Given the description of an element on the screen output the (x, y) to click on. 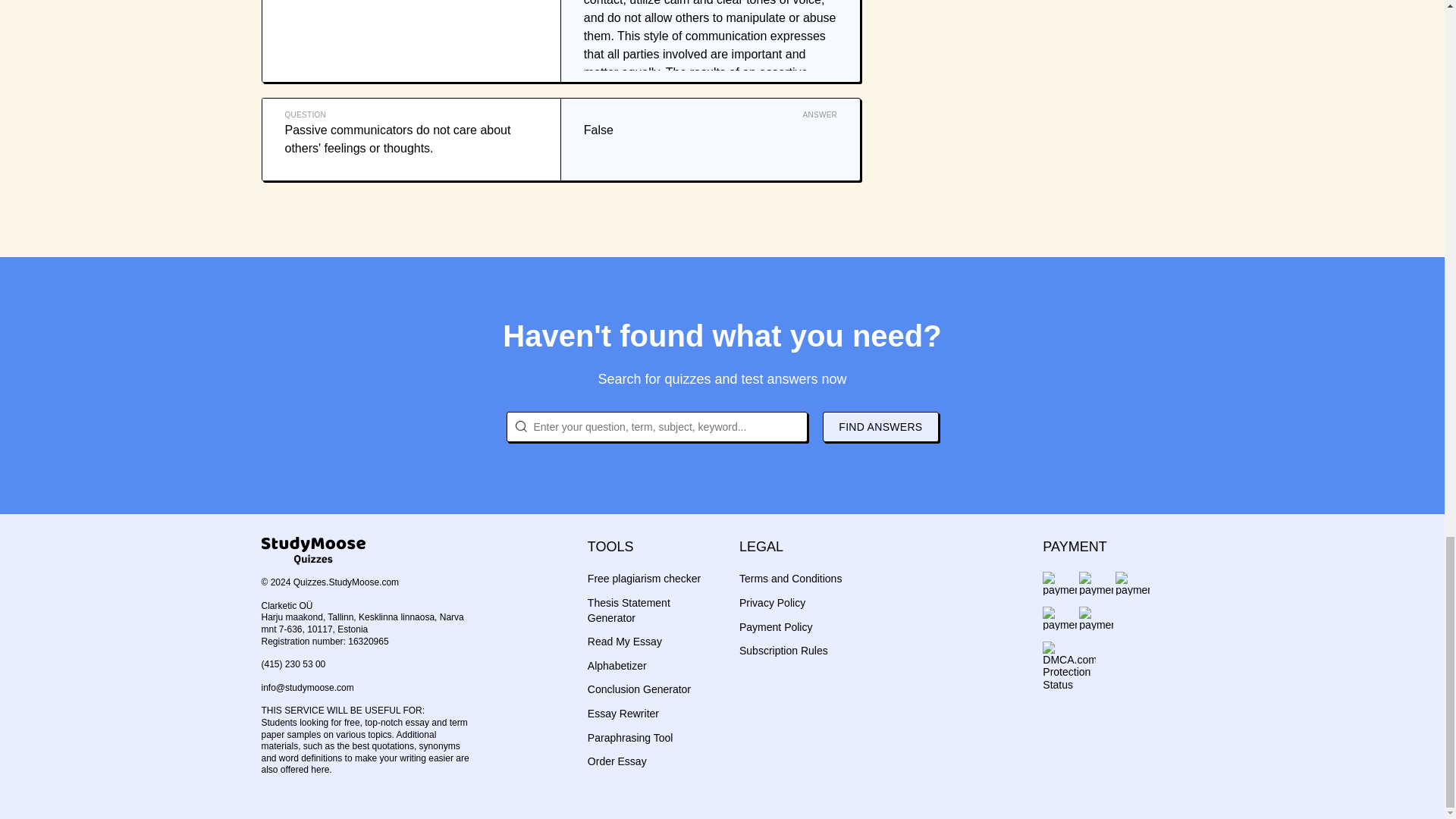
DMCA.com Protection Status (1069, 655)
